Given the description of an element on the screen output the (x, y) to click on. 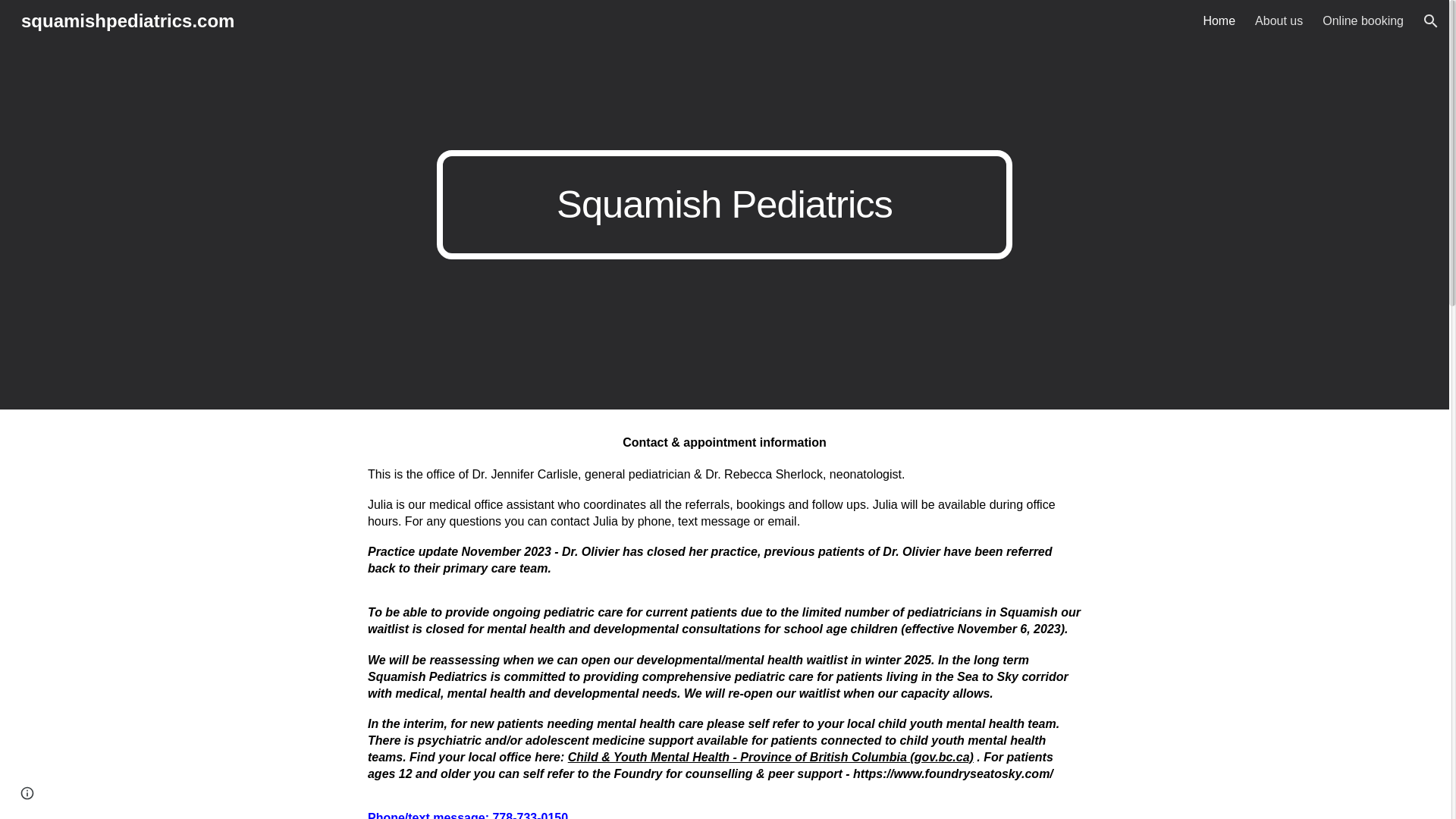
Home (1218, 20)
Online booking (1362, 20)
squamishpediatrics.com (127, 19)
About us (1279, 20)
